Given the description of an element on the screen output the (x, y) to click on. 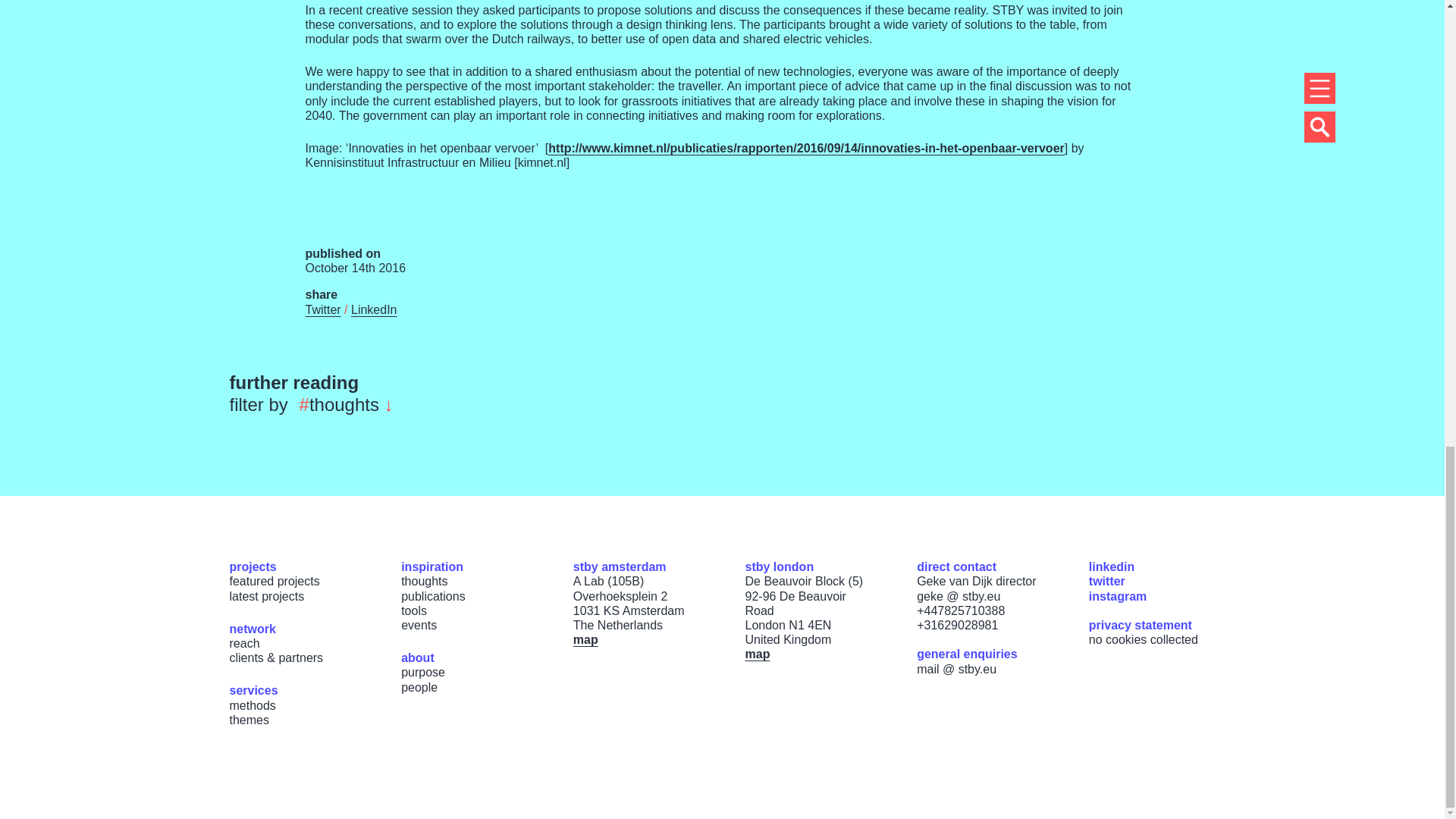
reach (243, 643)
featured projects (273, 581)
methods (251, 705)
Twitter (322, 309)
latest projects (266, 595)
themes (247, 719)
LinkedIn (373, 309)
services (253, 689)
network (251, 628)
thoughts (423, 581)
publications (433, 595)
inspiration (432, 566)
projects (252, 566)
